Given the description of an element on the screen output the (x, y) to click on. 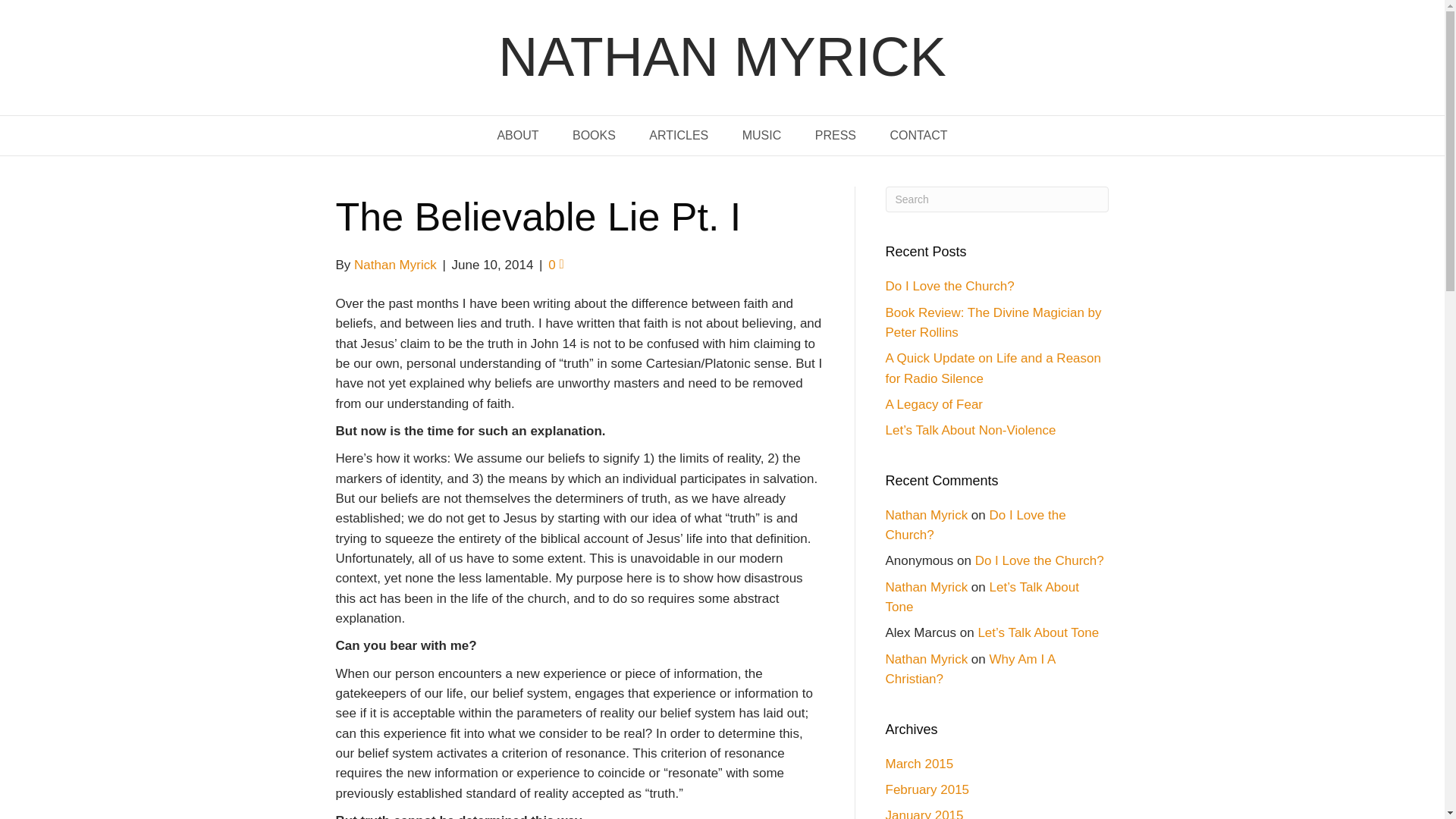
Why Am I A Christian? (970, 668)
Nathan Myrick (926, 586)
February 2015 (927, 789)
A Quick Update on Life and a Reason for Radio Silence (992, 367)
Nathan Myrick (926, 514)
ABOUT (517, 135)
Type and press Enter to search. (997, 199)
Do I Love the Church? (1039, 560)
0 (555, 264)
PRESS (834, 135)
BOOKS (593, 135)
January 2015 (924, 813)
March 2015 (919, 763)
A Legacy of Fear (934, 404)
NATHAN MYRICK (721, 57)
